Given the description of an element on the screen output the (x, y) to click on. 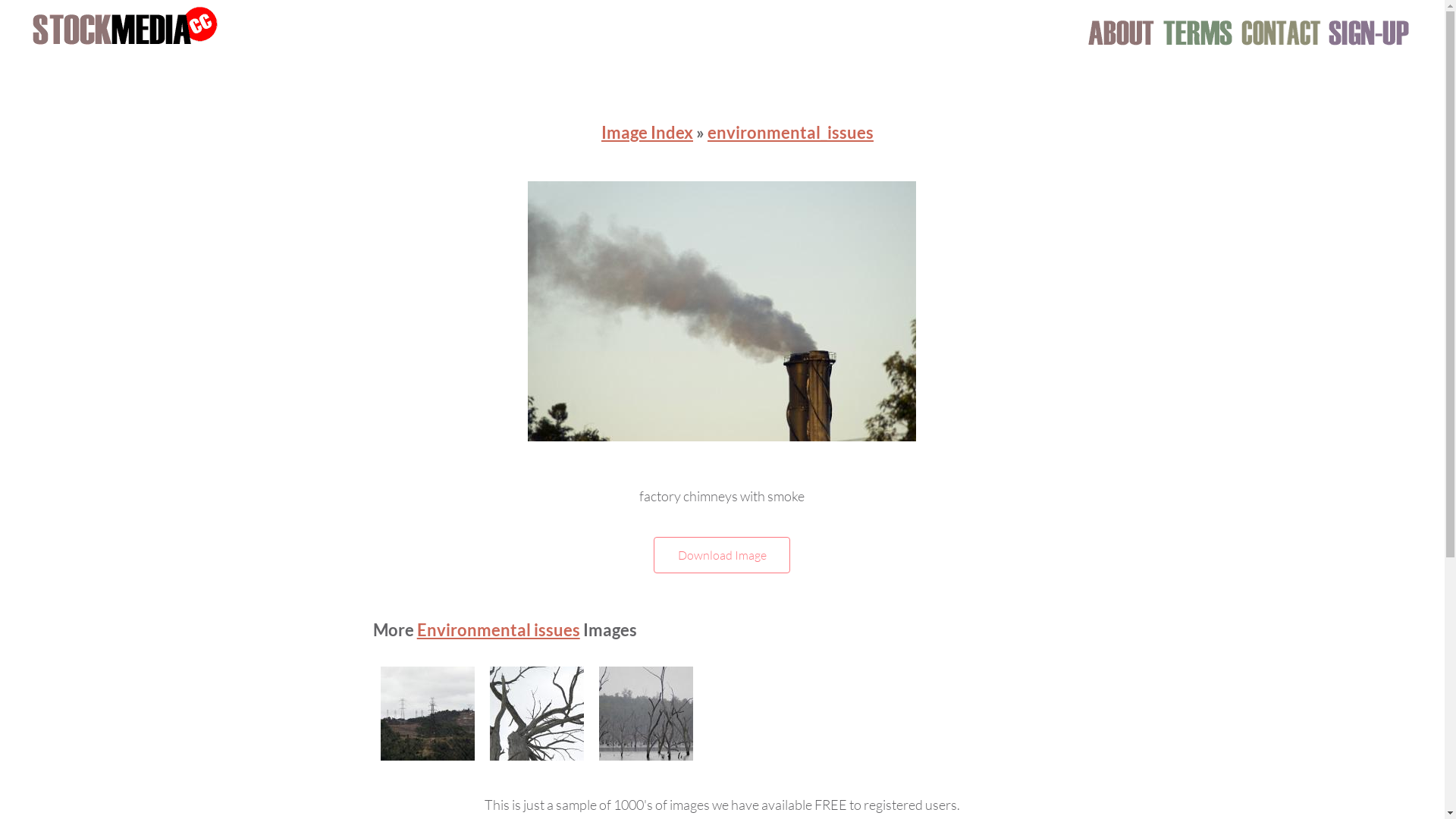
Image Index Element type: text (647, 132)
dead tree Element type: hover (536, 713)
environmental_issues Element type: text (790, 132)
Download Image Element type: text (721, 554)
Download Image Element type: text (721, 554)
Environmental issues Element type: text (498, 629)
woodland cleared for power cables Element type: hover (427, 713)
flooded woodland Element type: hover (646, 713)
